Given the description of an element on the screen output the (x, y) to click on. 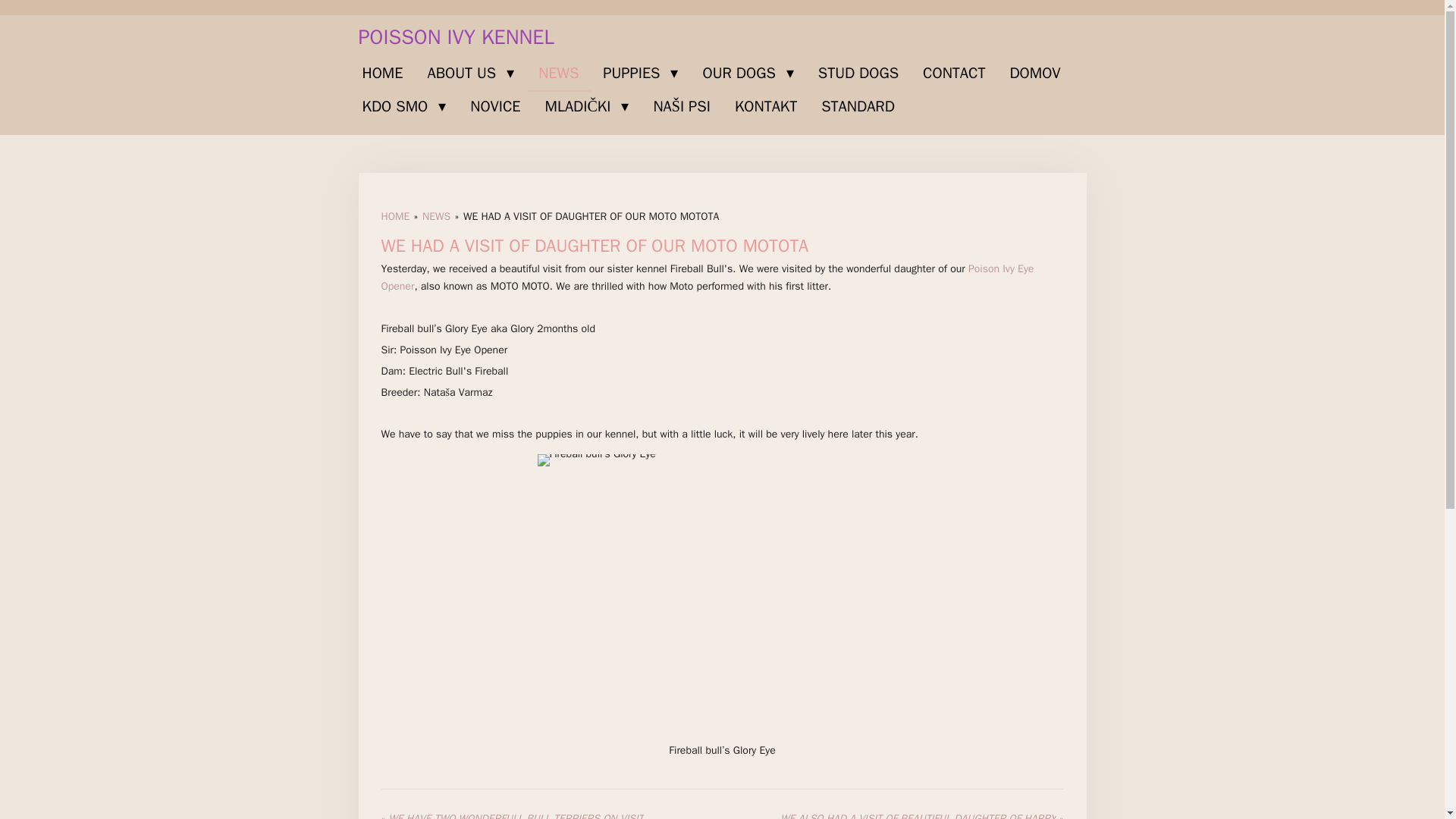
WE HAD A VISIT OF DAUGHTER OF OUR MOTO MOTOTA (591, 215)
POISSON IVY KENNEL (455, 36)
STANDARD (858, 106)
KDO SMO (404, 106)
PUPPIES (640, 73)
DOMOV (1034, 73)
HOME (382, 73)
Poison Ivy Eye Opener (706, 276)
CONTACT (954, 73)
NEWS (435, 215)
